Given the description of an element on the screen output the (x, y) to click on. 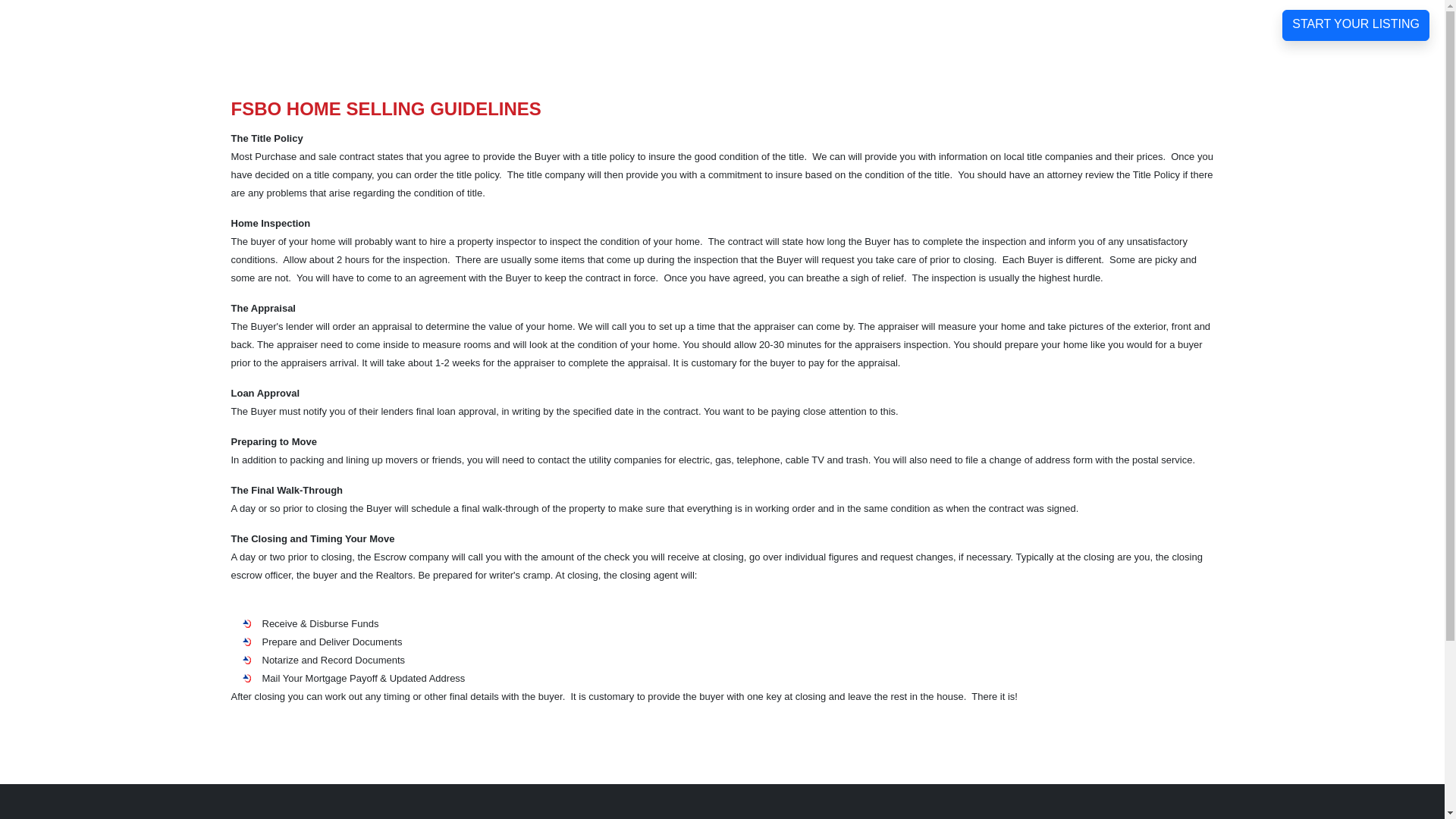
About (758, 24)
Sellers (822, 24)
Email Us (1117, 24)
Resources (974, 24)
Buyers (892, 24)
Sign In (1051, 24)
START YOUR LISTING (1355, 24)
